Given the description of an element on the screen output the (x, y) to click on. 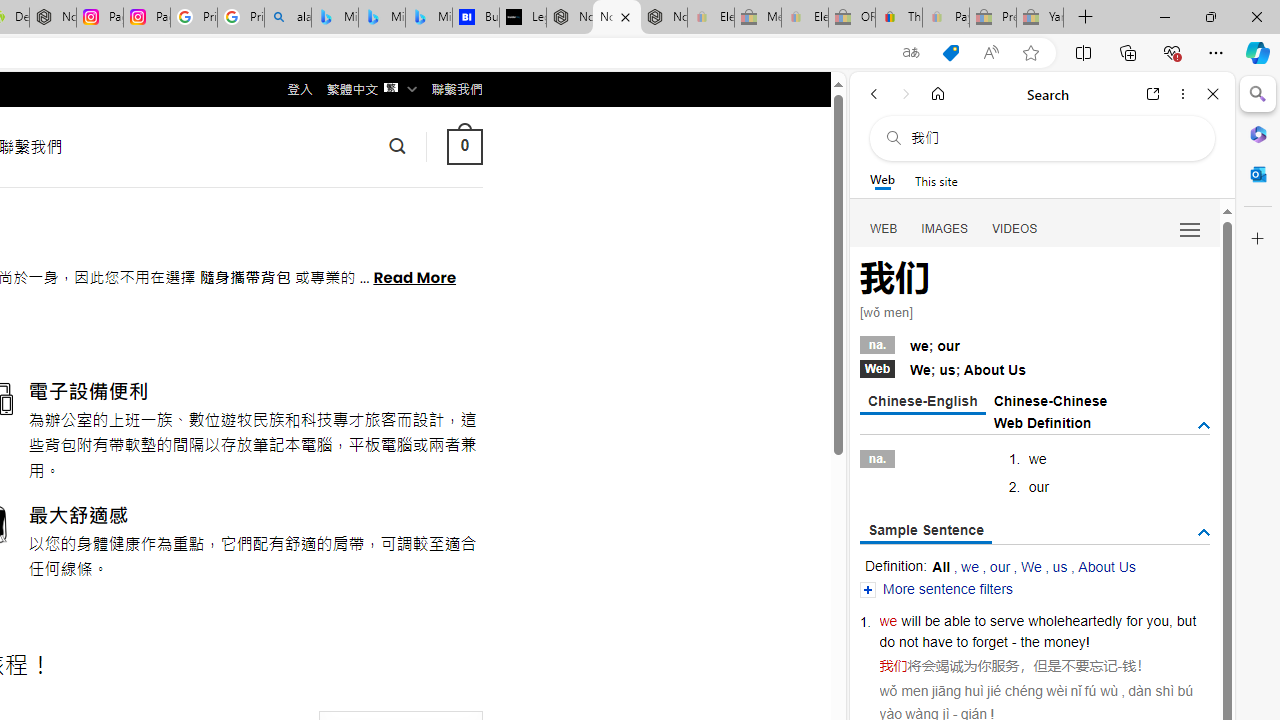
WebWe; us; About Us (1034, 367)
money (1064, 642)
We (1030, 566)
